Given the description of an element on the screen output the (x, y) to click on. 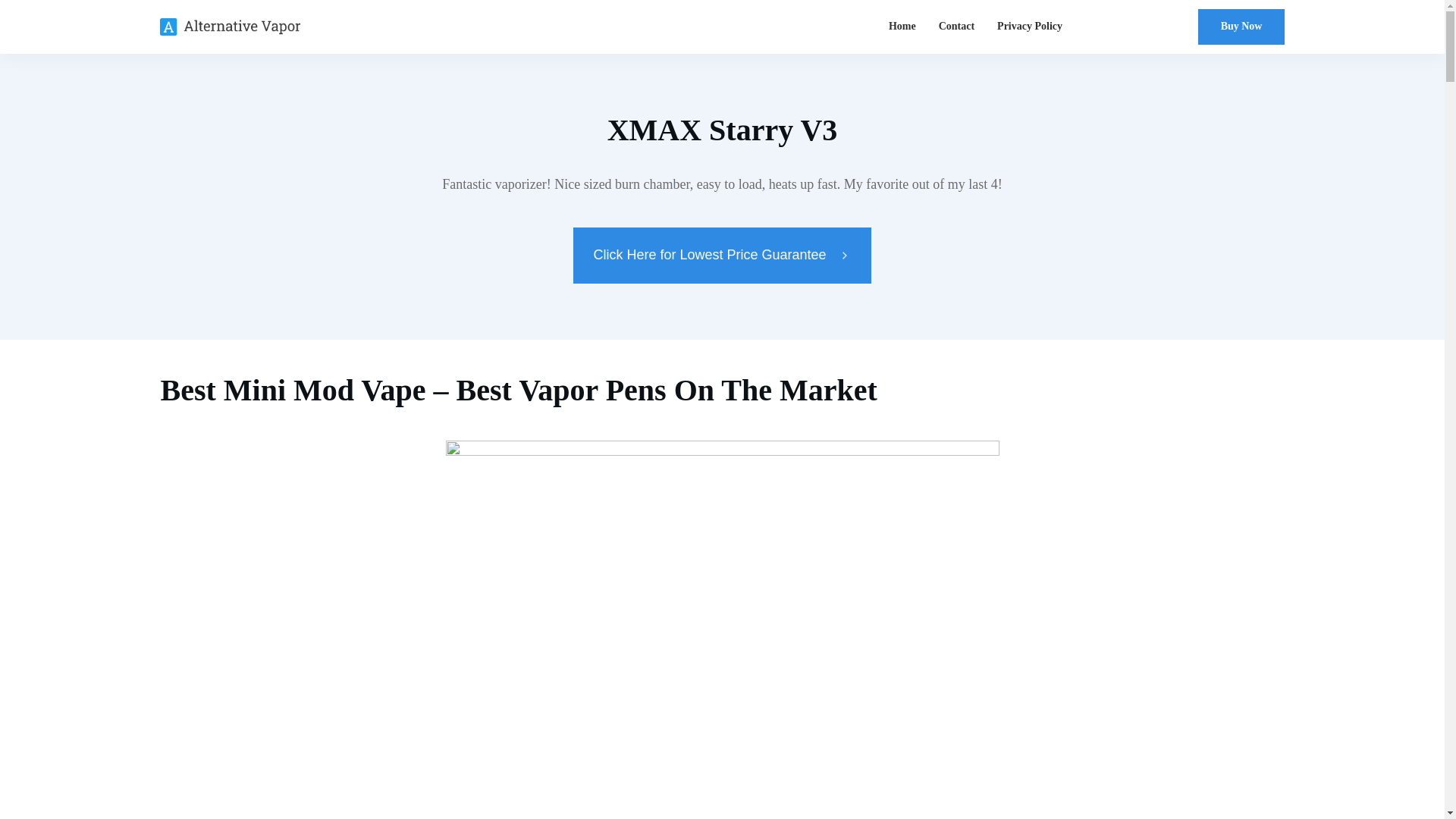
Privacy Policy (1029, 25)
Click Here for Lowest Price Guarantee (721, 255)
Contact (956, 25)
Buy Now (1241, 27)
Home (901, 25)
